Given the description of an element on the screen output the (x, y) to click on. 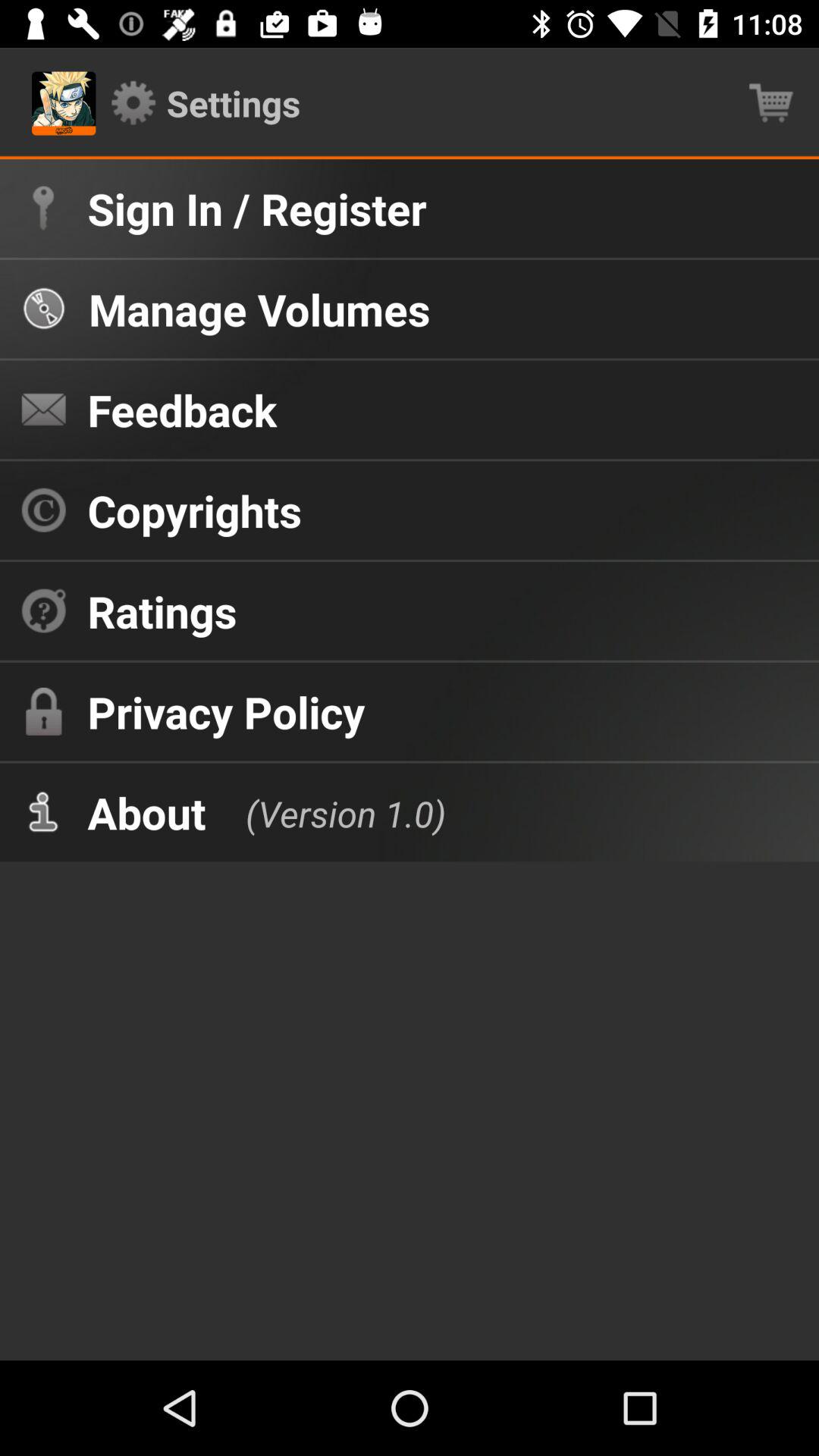
jump to the (version 1.0)  item (330, 812)
